Given the description of an element on the screen output the (x, y) to click on. 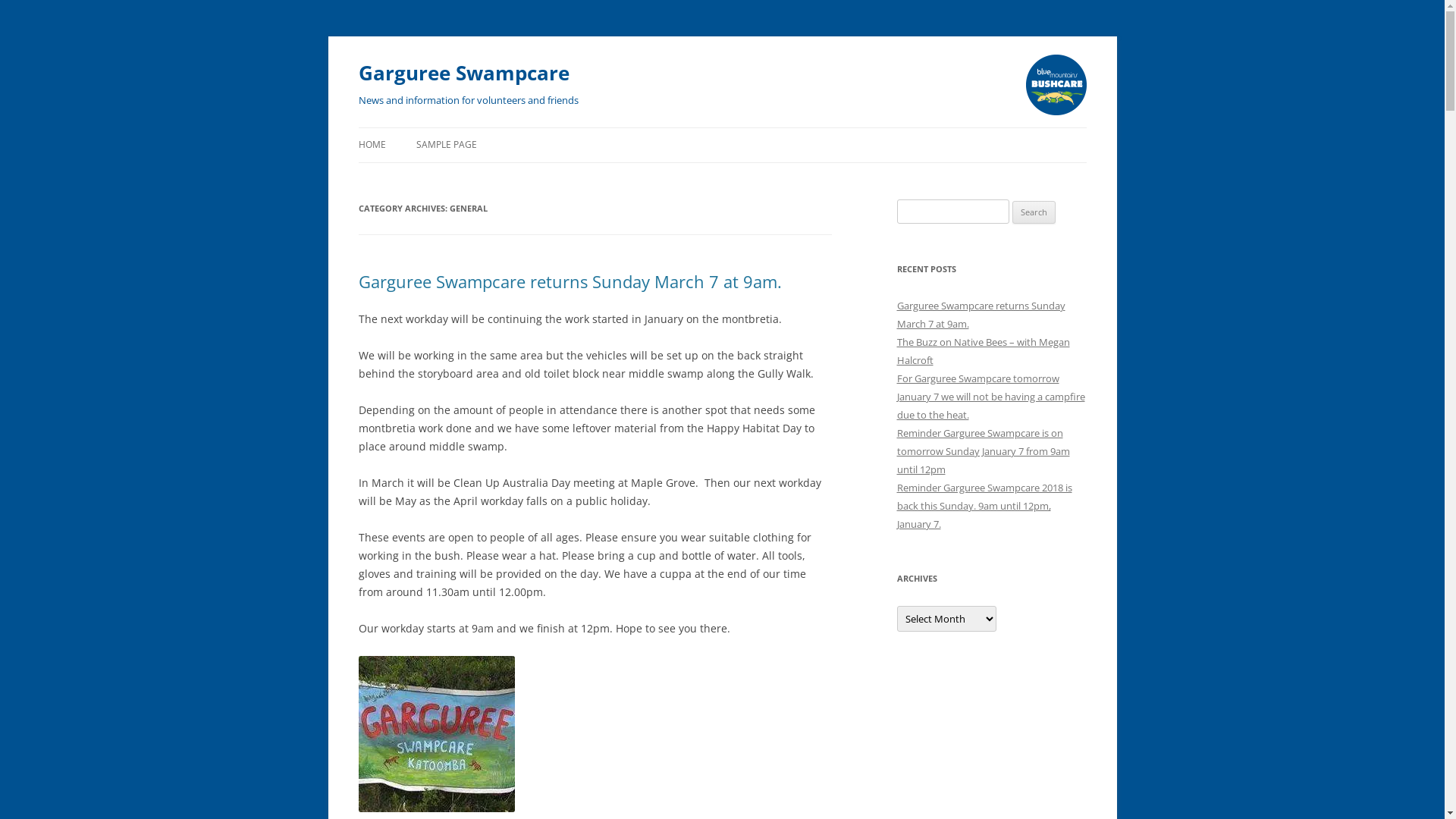
Skip to content Element type: text (357, 145)
HOME Element type: text (371, 144)
Garguree Swampcare returns Sunday March 7 at 9am. Element type: text (980, 314)
Garguree Swampcare Element type: text (462, 72)
Garguree Swampcare returns Sunday March 7 at 9am. Element type: text (569, 280)
Search Element type: text (1033, 211)
SAMPLE PAGE Element type: text (445, 144)
